Given the description of an element on the screen output the (x, y) to click on. 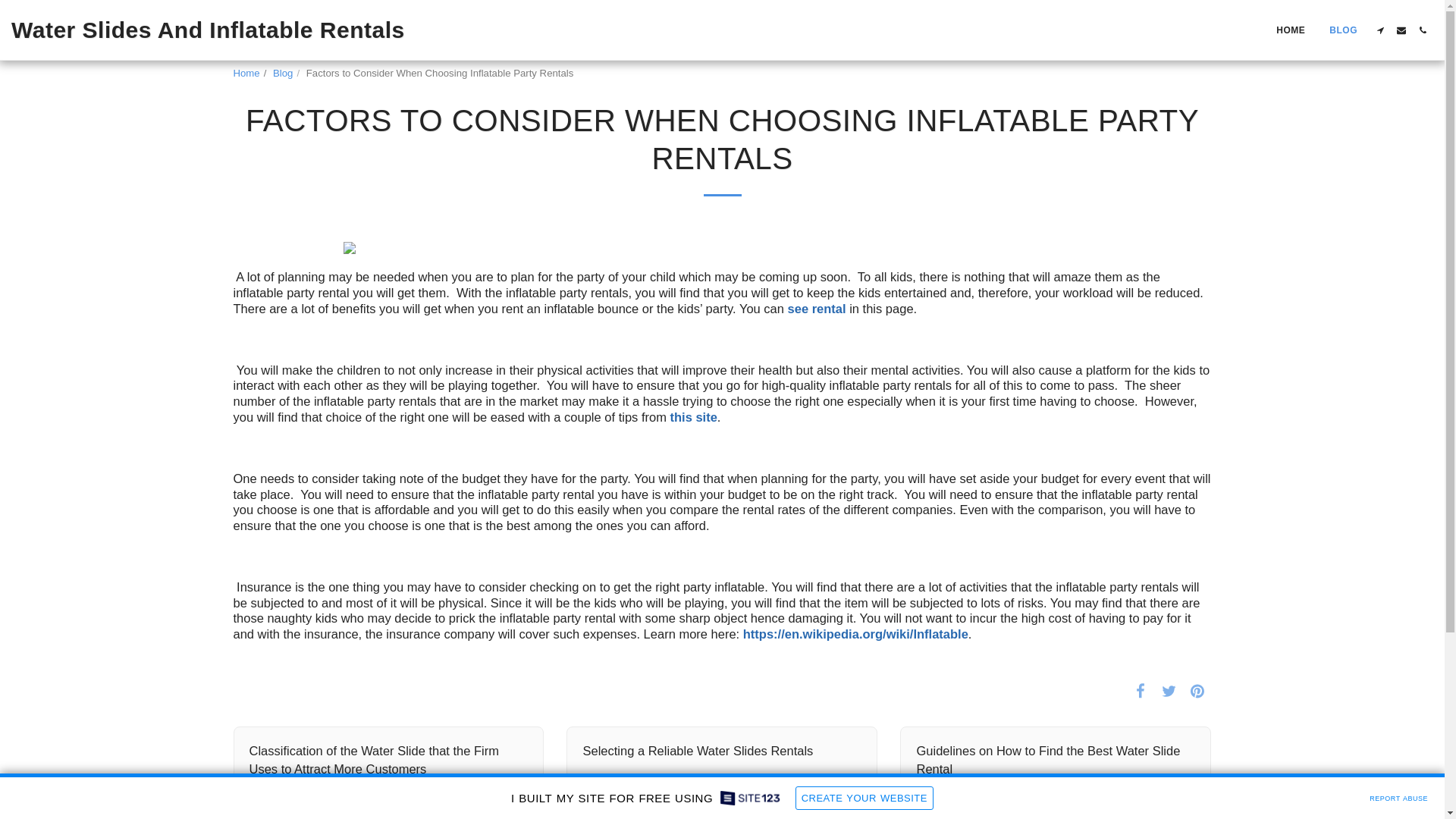
Selecting a Reliable Water Slides Rentals (721, 751)
HOME (1290, 30)
Tweet (1168, 690)
Guidelines on How to Find the Best Water Slide Rental (1055, 760)
Water Slides And Inflatable Rentals (207, 30)
BLOG (1342, 30)
see rental (816, 308)
Home (246, 72)
